Given the description of an element on the screen output the (x, y) to click on. 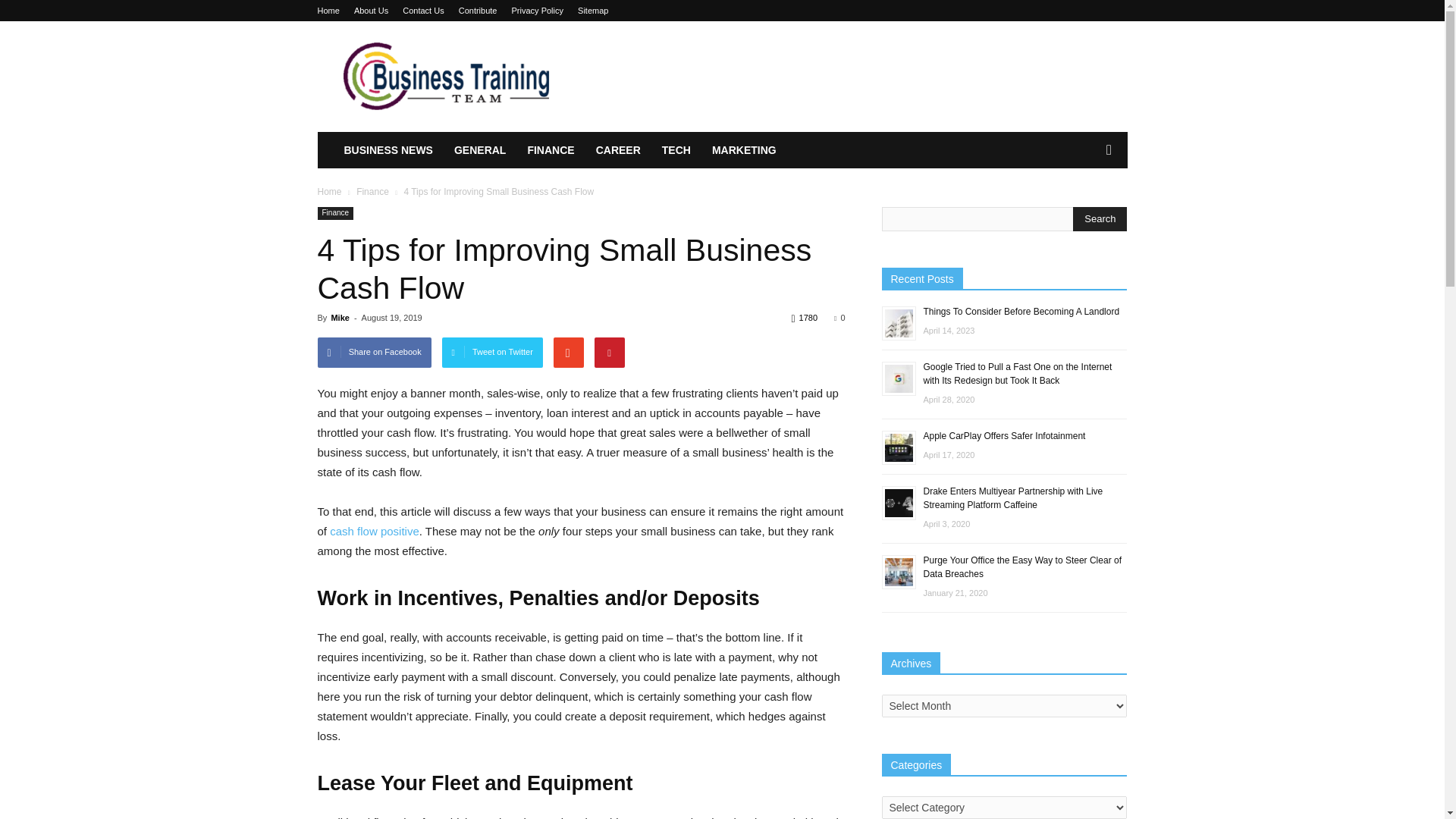
Finance (373, 191)
MARKETING (744, 149)
About Us (370, 10)
cash flow positive (374, 530)
Search (1099, 218)
Finance (335, 213)
GENERAL (480, 149)
Share on Facebook (373, 352)
Home (328, 191)
Privacy Policy (537, 10)
